Given the description of an element on the screen output the (x, y) to click on. 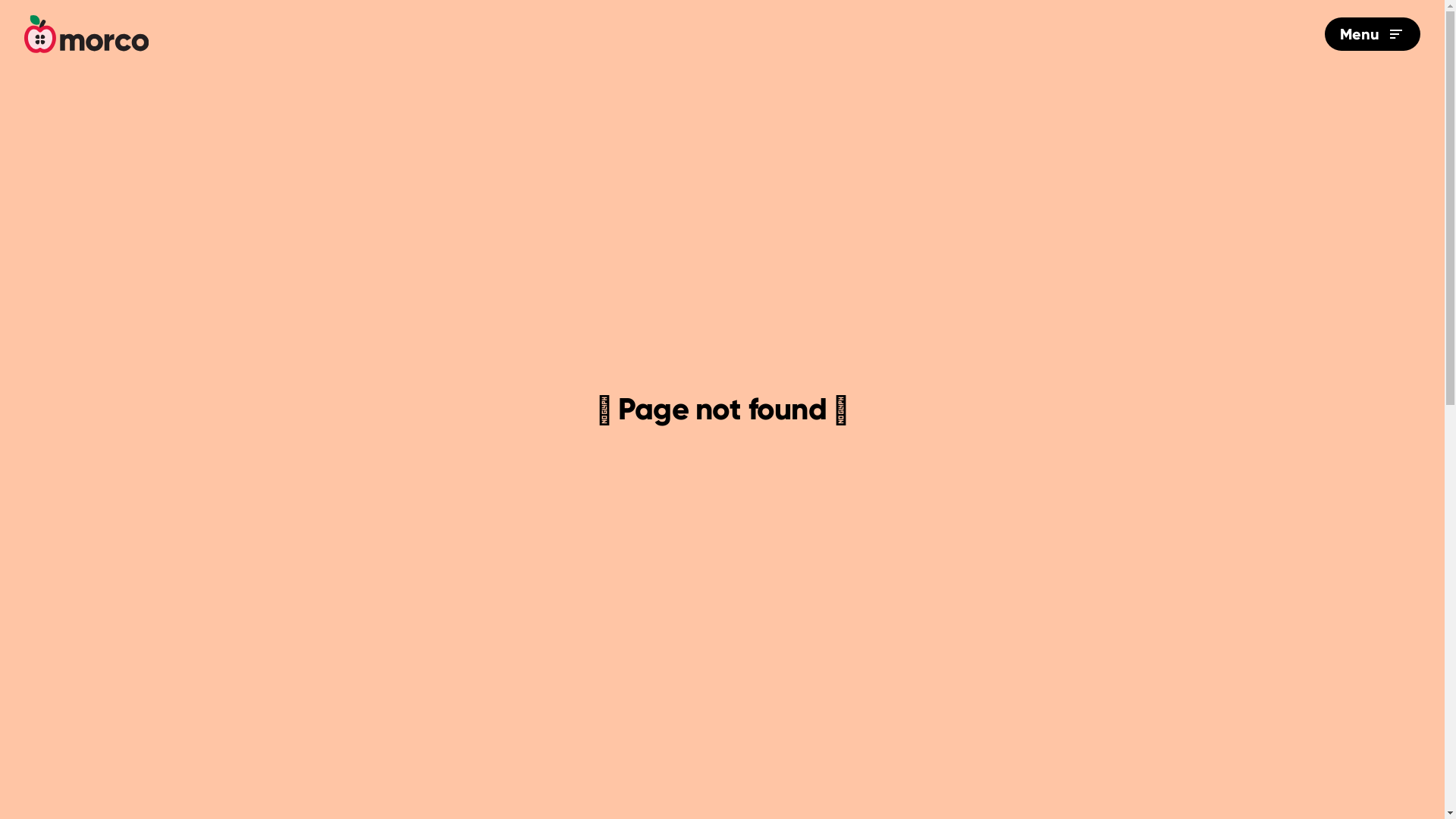
Menu Element type: text (1372, 33)
